Given the description of an element on the screen output the (x, y) to click on. 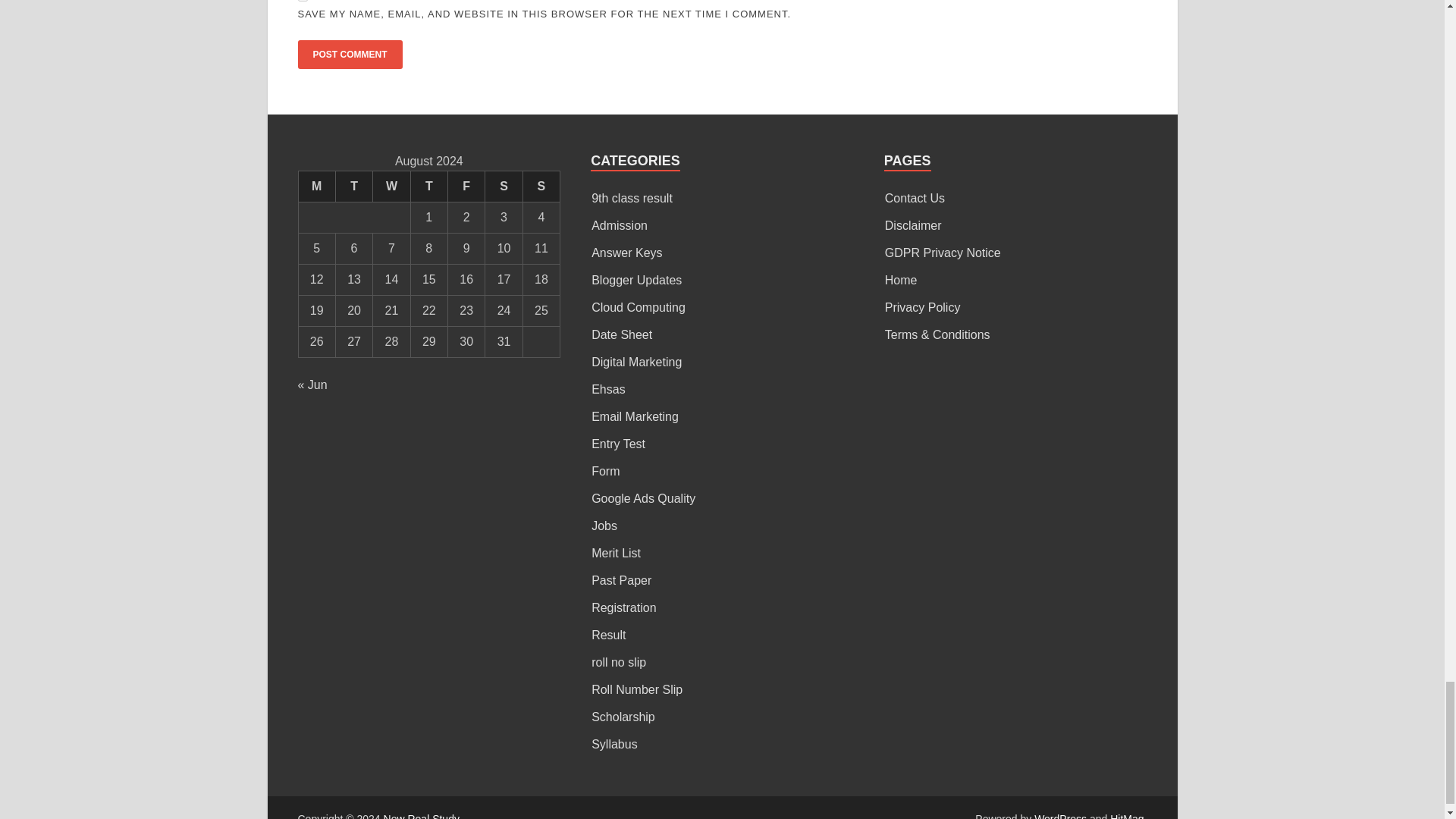
Post Comment (349, 54)
Monday (316, 185)
Post Comment (349, 54)
Thursday (428, 185)
Friday (465, 185)
Wednesday (391, 185)
Tuesday (353, 185)
Saturday (503, 185)
